Given the description of an element on the screen output the (x, y) to click on. 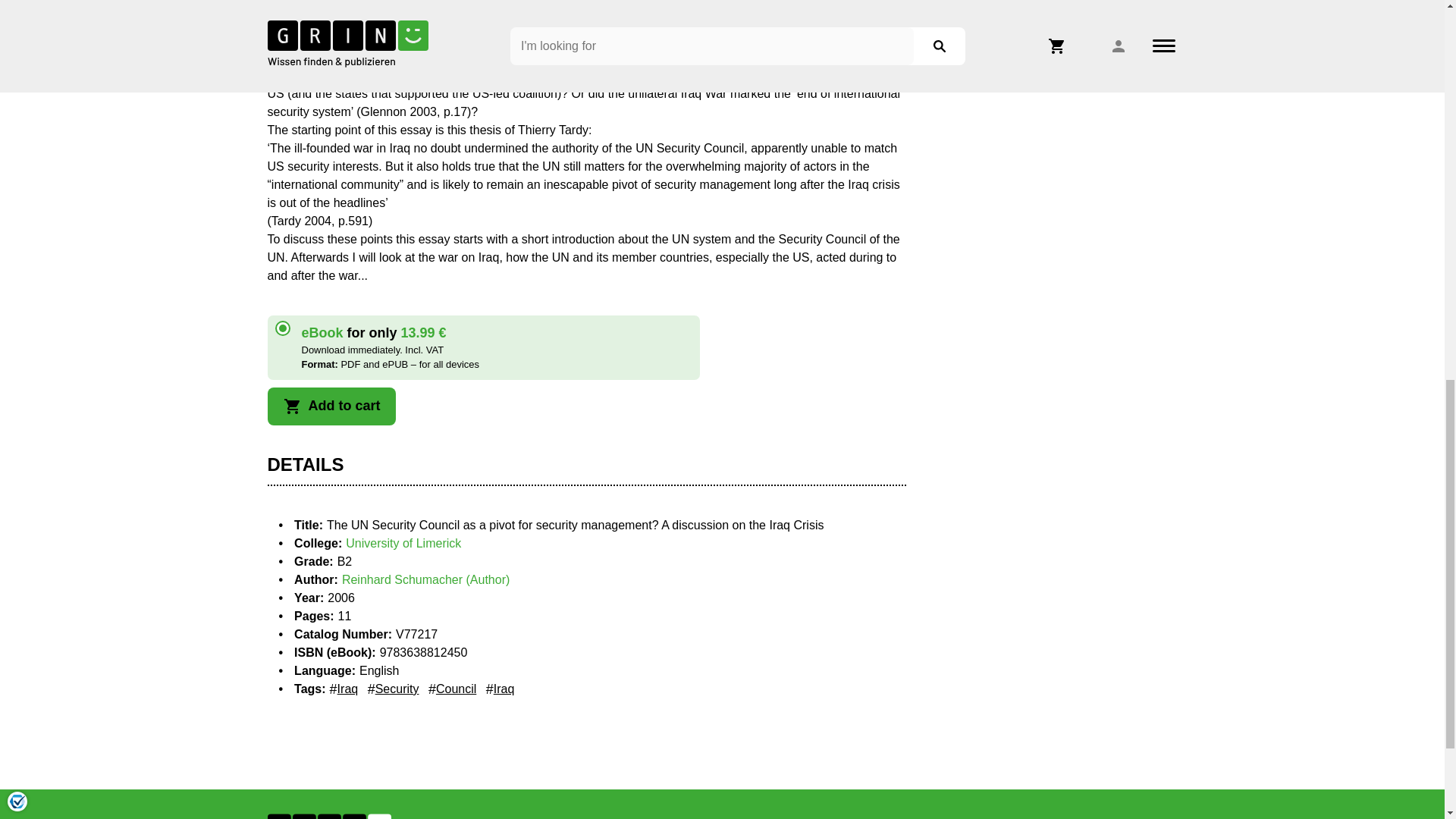
Security (393, 689)
Iraq (344, 689)
Iraq (500, 689)
University of Limerick (403, 543)
Council (452, 689)
Add to cart (330, 406)
